Given the description of an element on the screen output the (x, y) to click on. 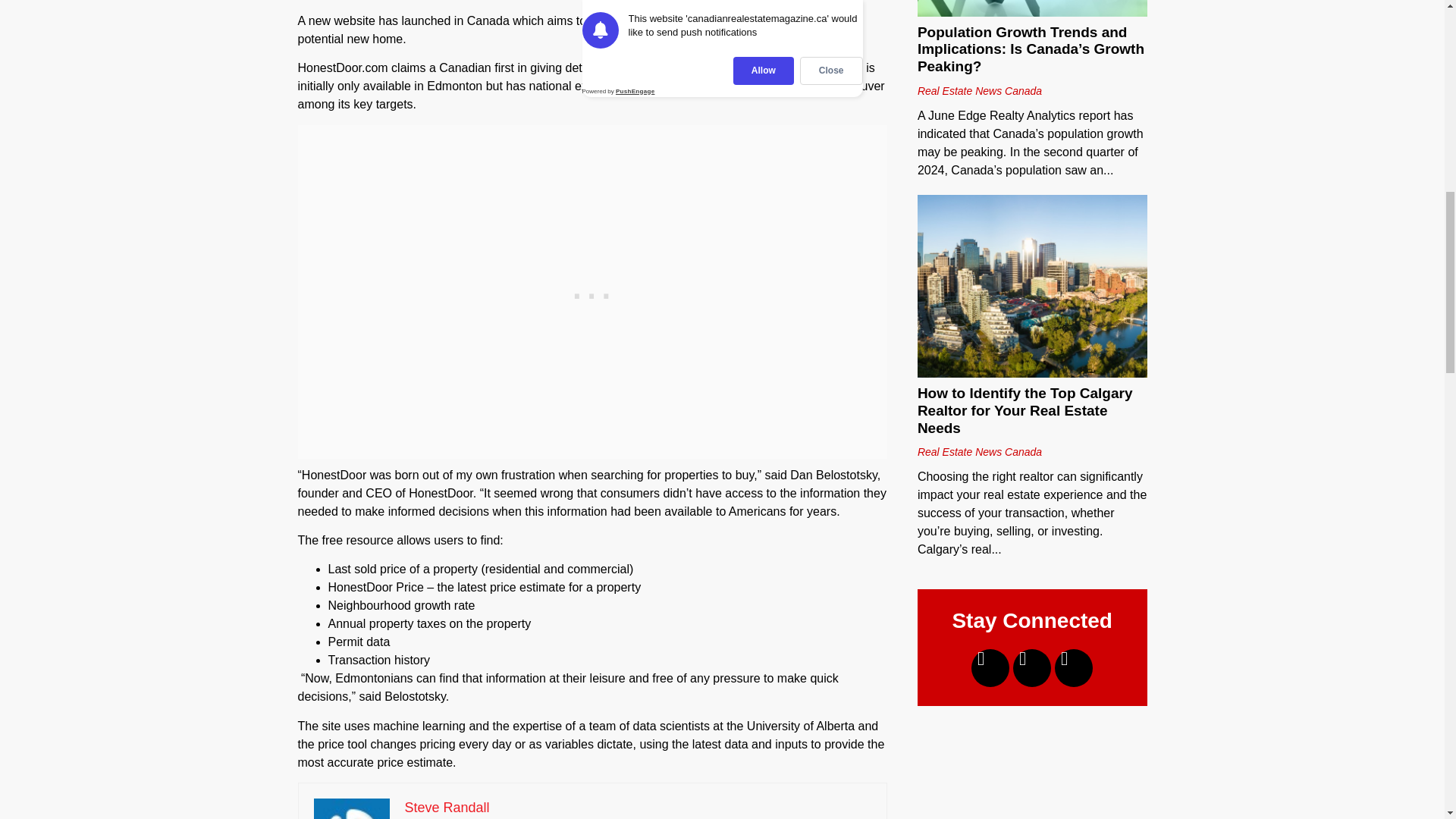
Steve Randall (446, 807)
